Given the description of an element on the screen output the (x, y) to click on. 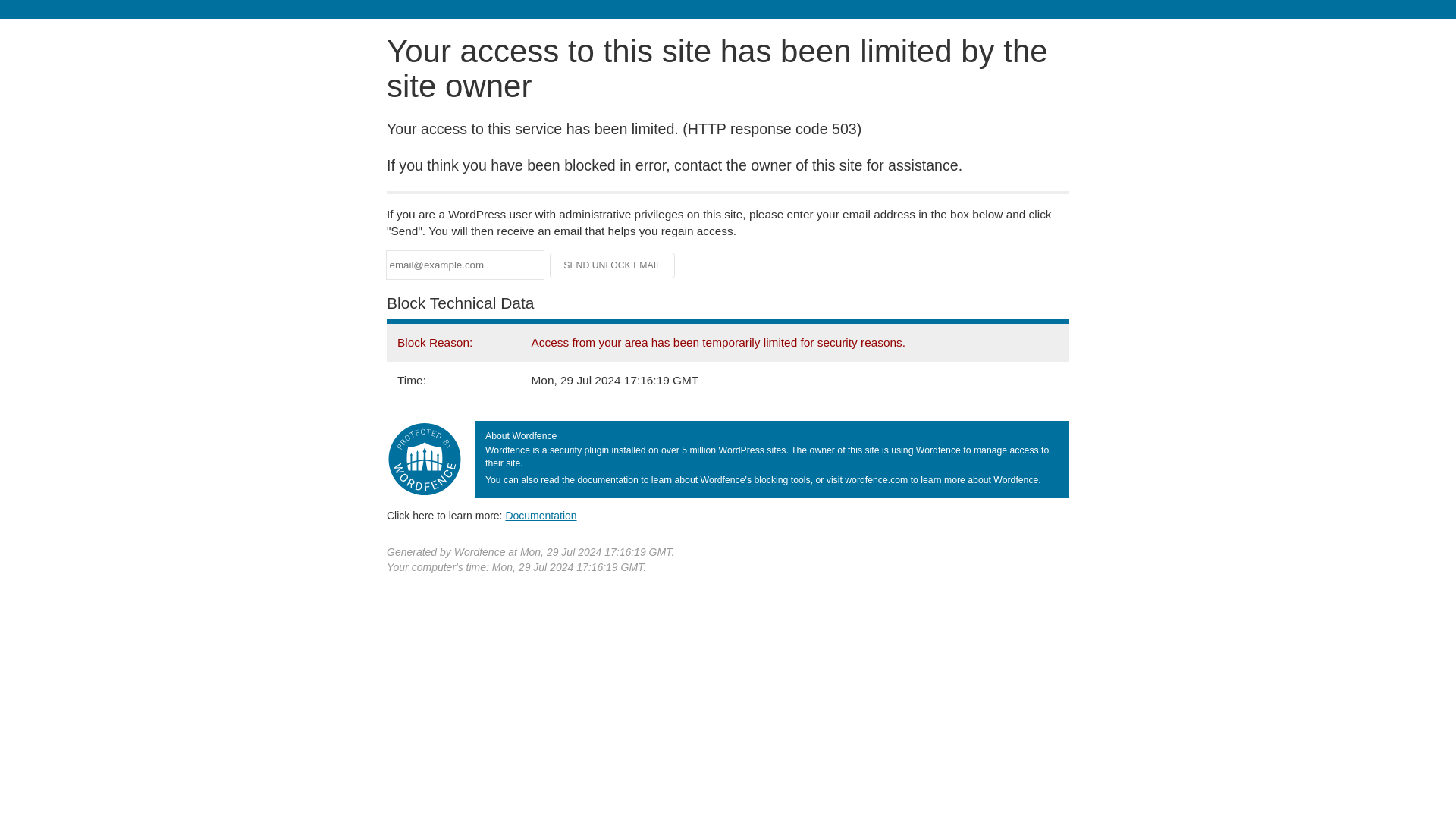
Documentation (540, 515)
Send Unlock Email (612, 265)
Send Unlock Email (612, 265)
